Given the description of an element on the screen output the (x, y) to click on. 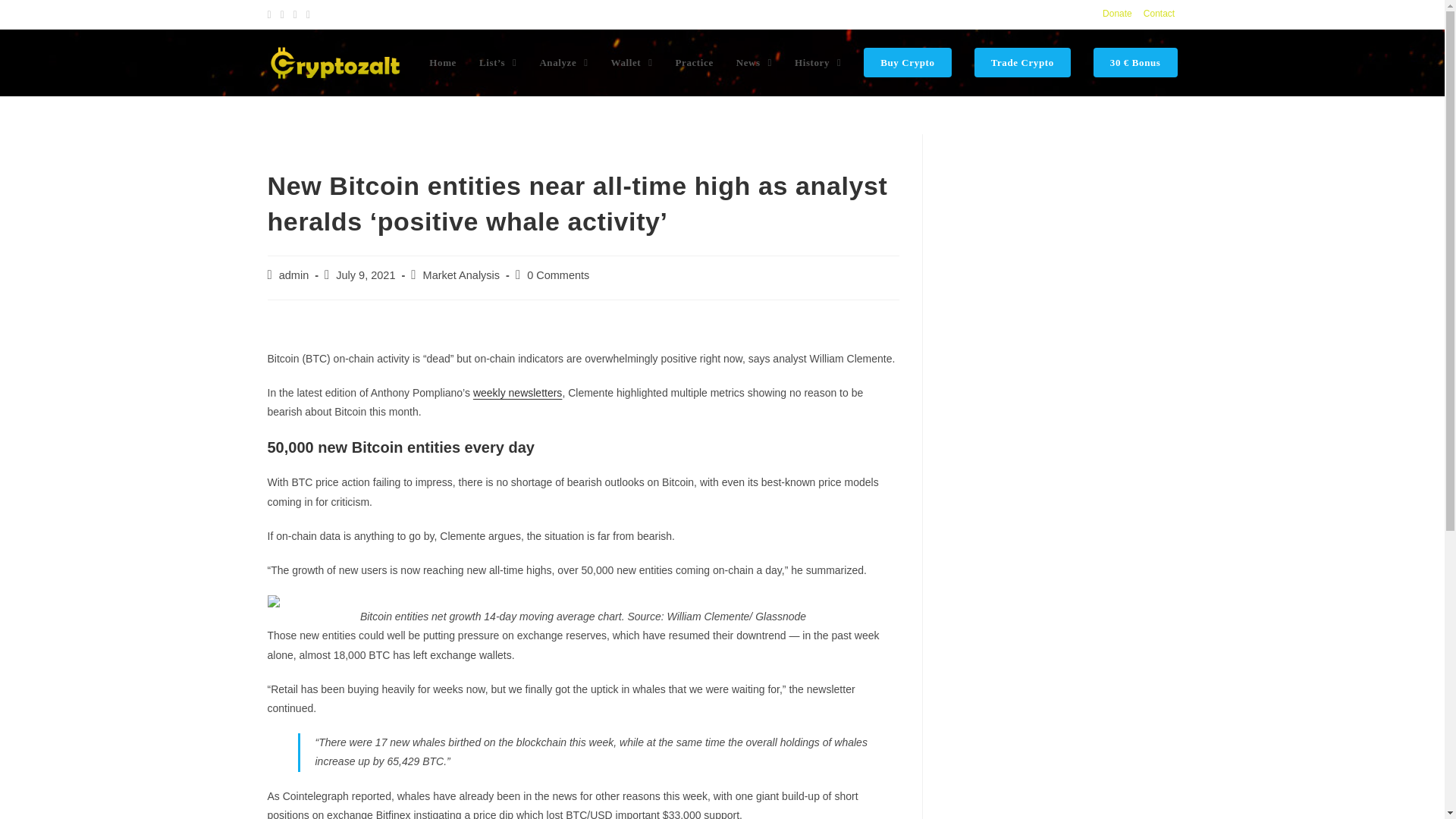
Posts by admin (293, 275)
Wallet (631, 62)
Donate (1117, 13)
News (754, 62)
Analyze (562, 62)
Buy Crypto (906, 62)
Contact (1158, 13)
Home (442, 62)
History (817, 62)
Practice (693, 62)
